Given the description of an element on the screen output the (x, y) to click on. 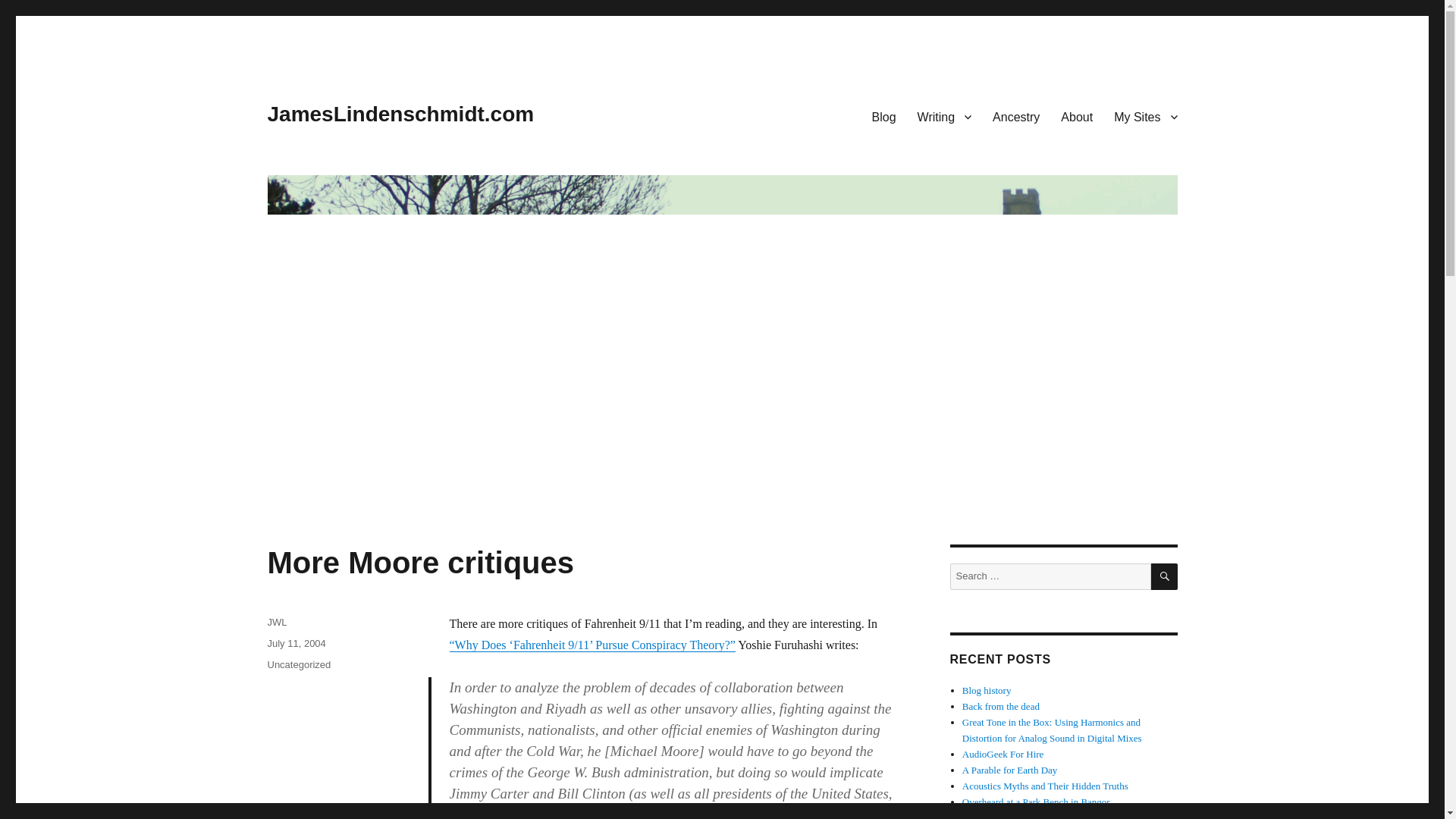
Back from the dead (1000, 706)
Ancestry (1015, 116)
Blog history (986, 690)
July 11, 2004 (295, 643)
Acoustics Myths and Their Hidden Truths (1045, 785)
SEARCH (1164, 576)
My Sites (1145, 116)
Blog (884, 116)
About (1076, 116)
Overheard at a Park Bench in Bangor (1035, 801)
